Given the description of an element on the screen output the (x, y) to click on. 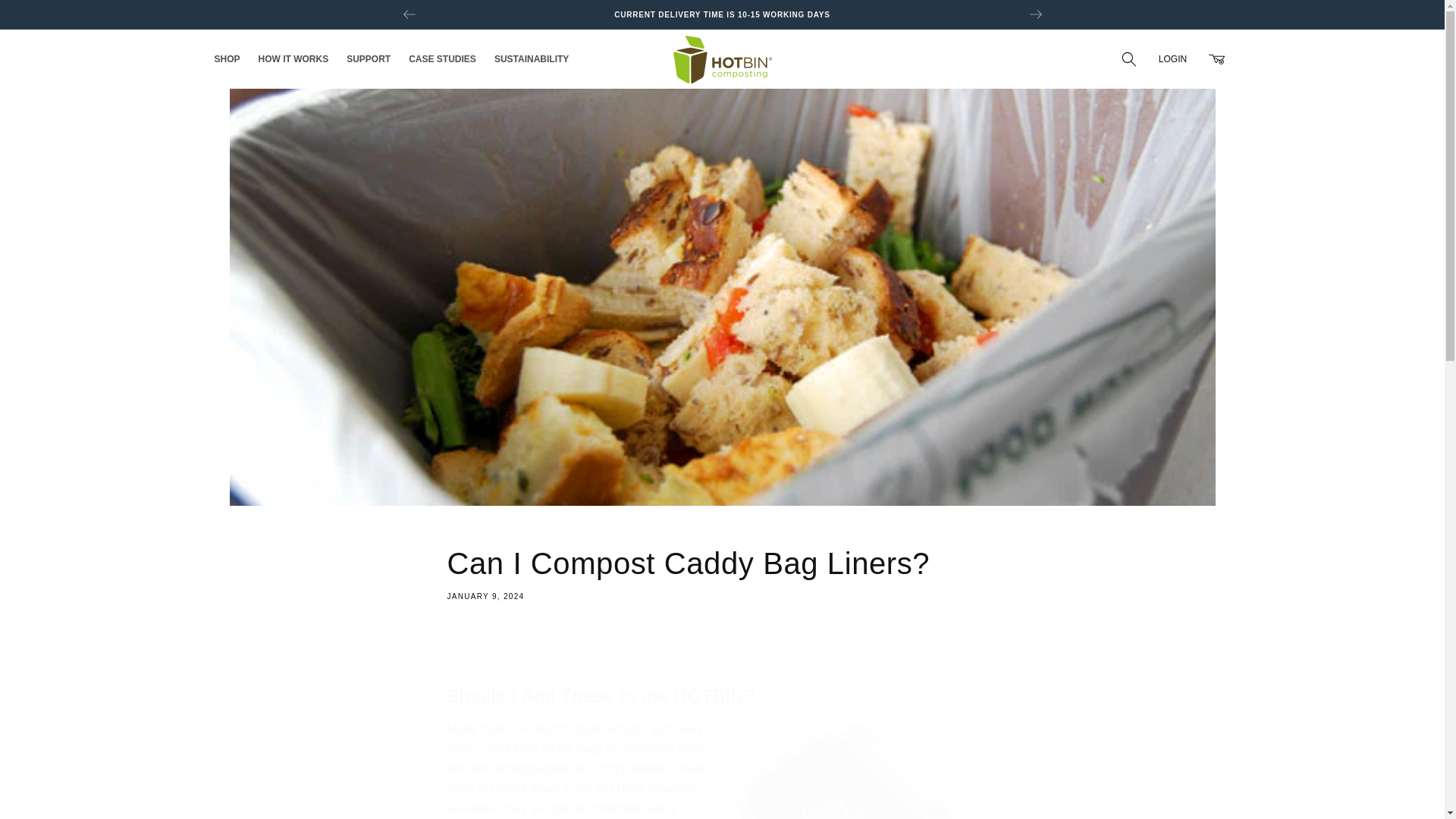
LOGIN (1172, 59)
Share (721, 655)
CART (1216, 59)
CASE STUDIES (441, 59)
SKIP TO CONTENT (45, 17)
HOW IT WORKS (721, 572)
SUSTAINABILITY (292, 59)
